Given the description of an element on the screen output the (x, y) to click on. 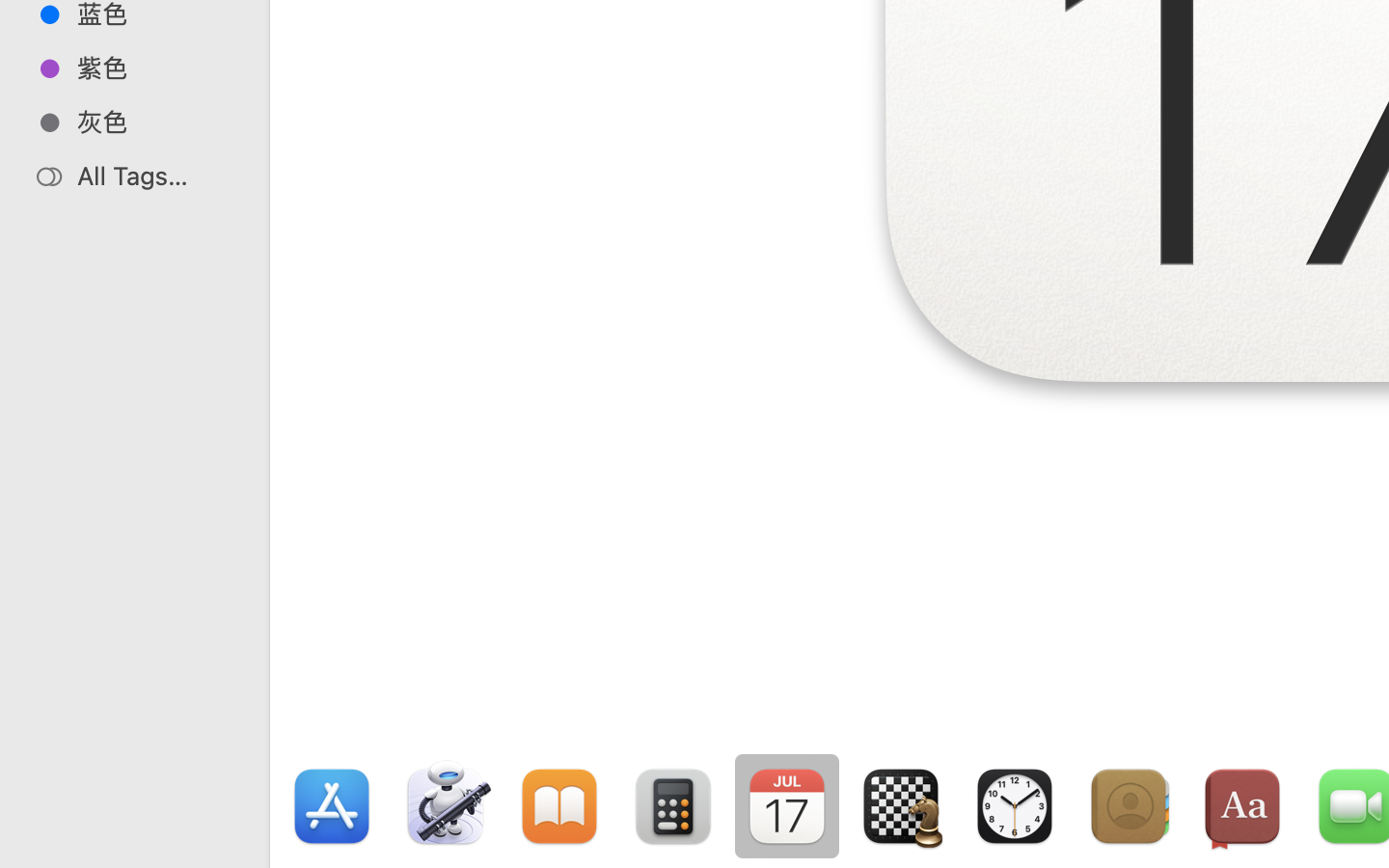
Applications Element type: AXStaticText (875, 786)
紫色 Element type: AXStaticText (155, 67)
灰色 Element type: AXStaticText (155, 121)
All Tags… Element type: AXStaticText (155, 175)
Tags… Element type: AXStaticText (41, 852)
